Given the description of an element on the screen output the (x, y) to click on. 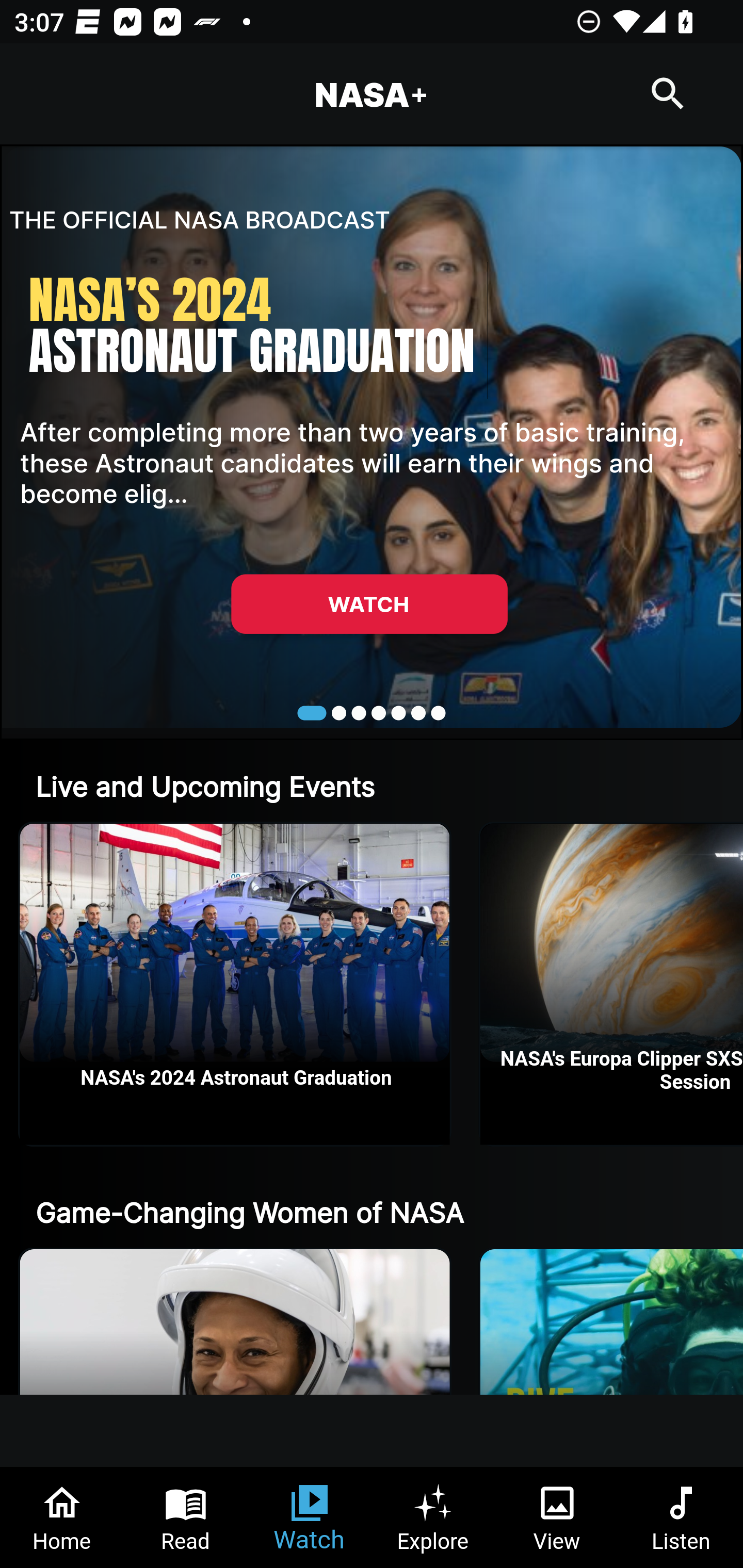
WATCH (369, 603)
NASA's 2024 Astronaut Graduation (235, 983)
NASA's Europa Clipper SXSW 2024 Opening Session (611, 983)
Home
Tab 1 of 6 (62, 1517)
Read
Tab 2 of 6 (185, 1517)
Watch
Tab 3 of 6 (309, 1517)
Explore
Tab 4 of 6 (433, 1517)
View
Tab 5 of 6 (556, 1517)
Listen
Tab 6 of 6 (680, 1517)
